Given the description of an element on the screen output the (x, y) to click on. 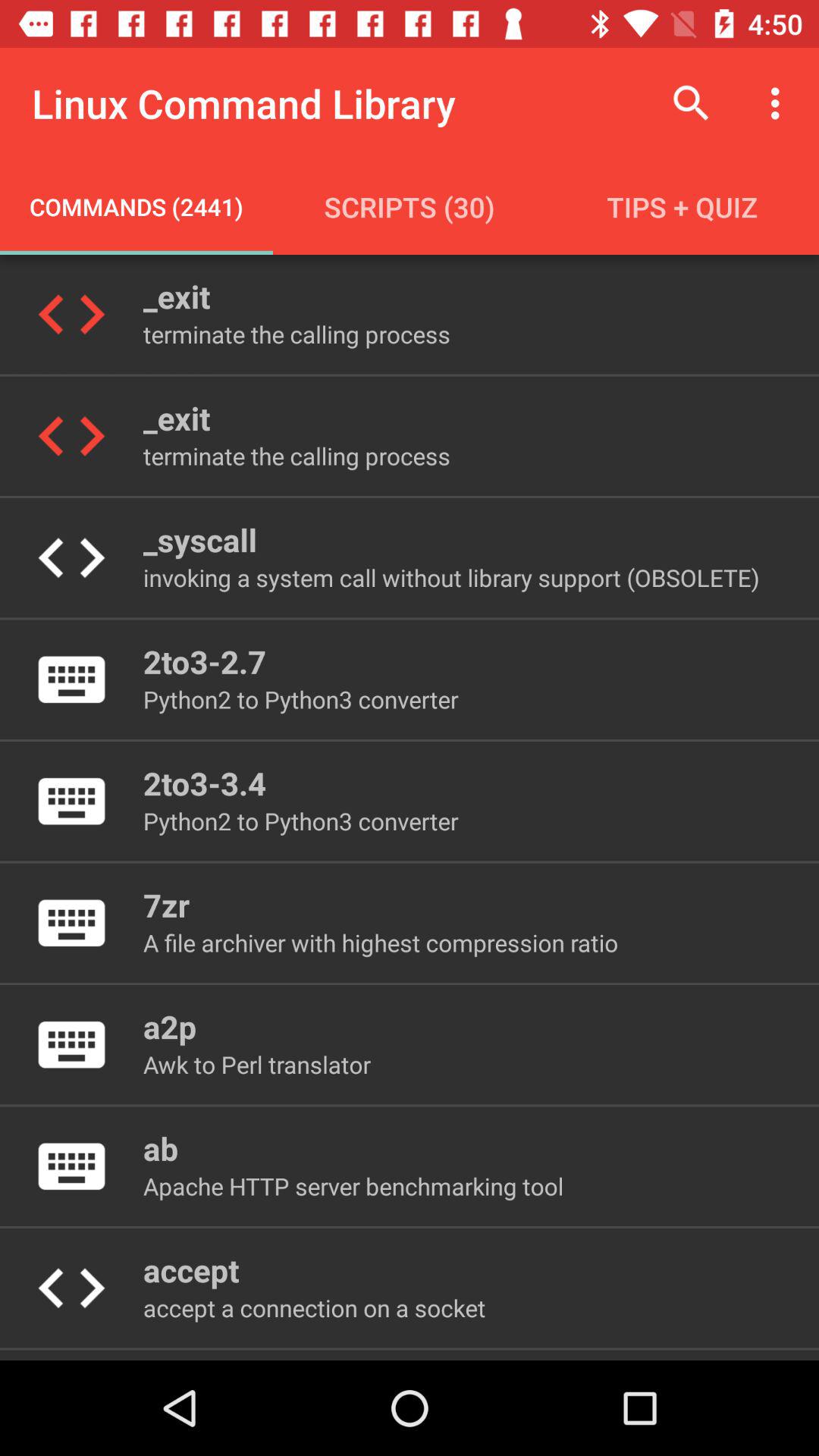
swipe until the apache http server icon (353, 1185)
